Given the description of an element on the screen output the (x, y) to click on. 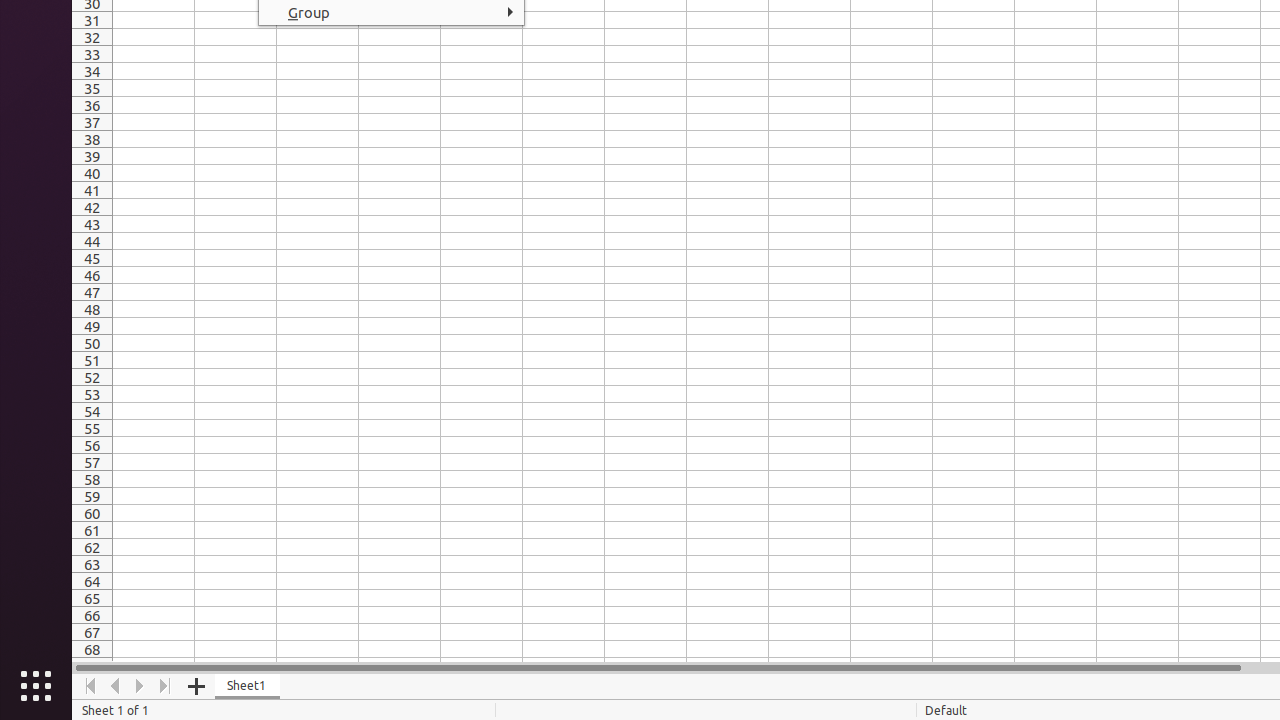
Move To Home Element type: push-button (90, 686)
Sheet1 Element type: page-tab (247, 686)
